Given the description of an element on the screen output the (x, y) to click on. 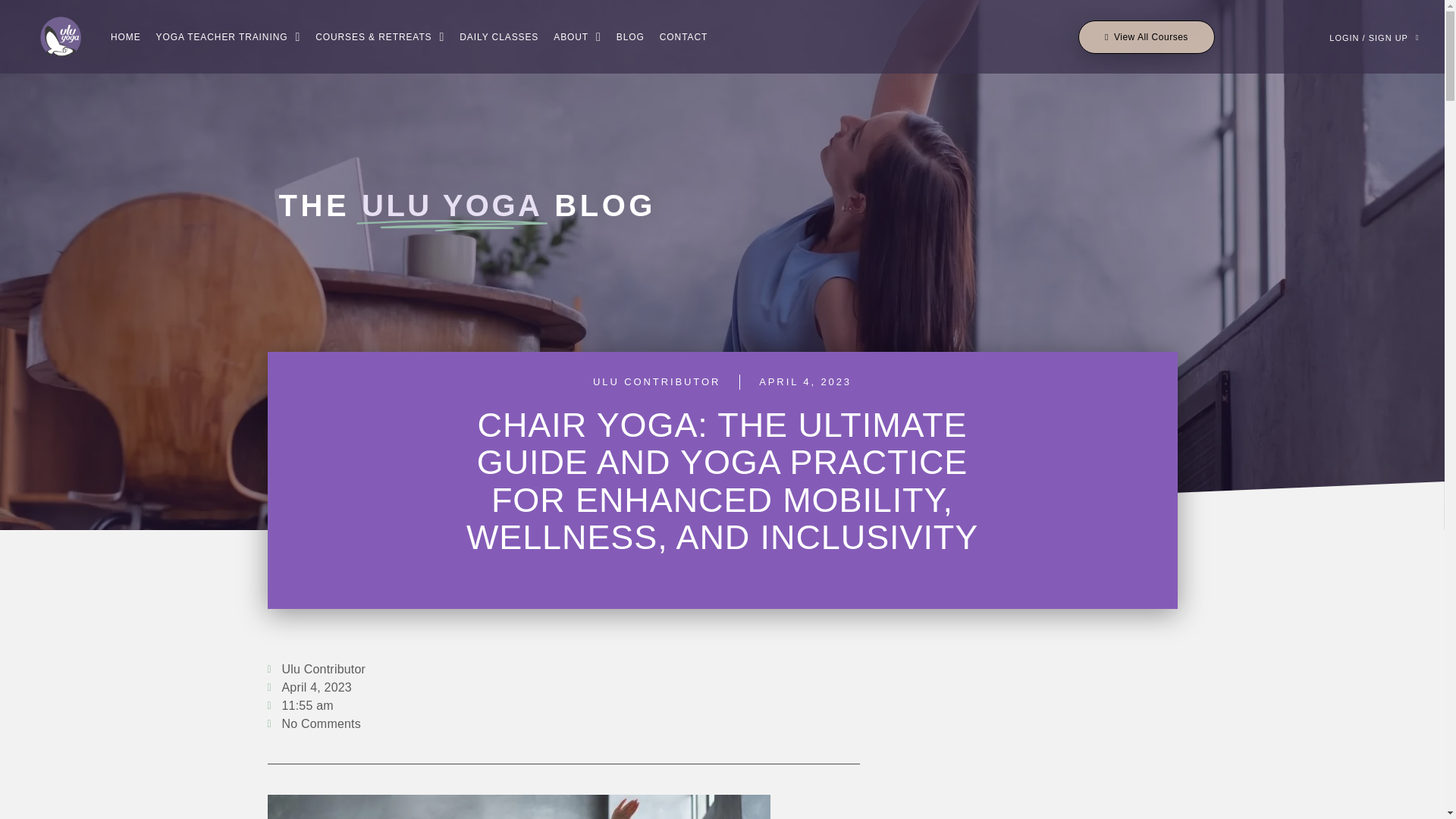
HOME (125, 37)
YOGA TEACHER TRAINING (228, 37)
ABOUT (577, 37)
DAILY CLASSES (498, 37)
